Given the description of an element on the screen output the (x, y) to click on. 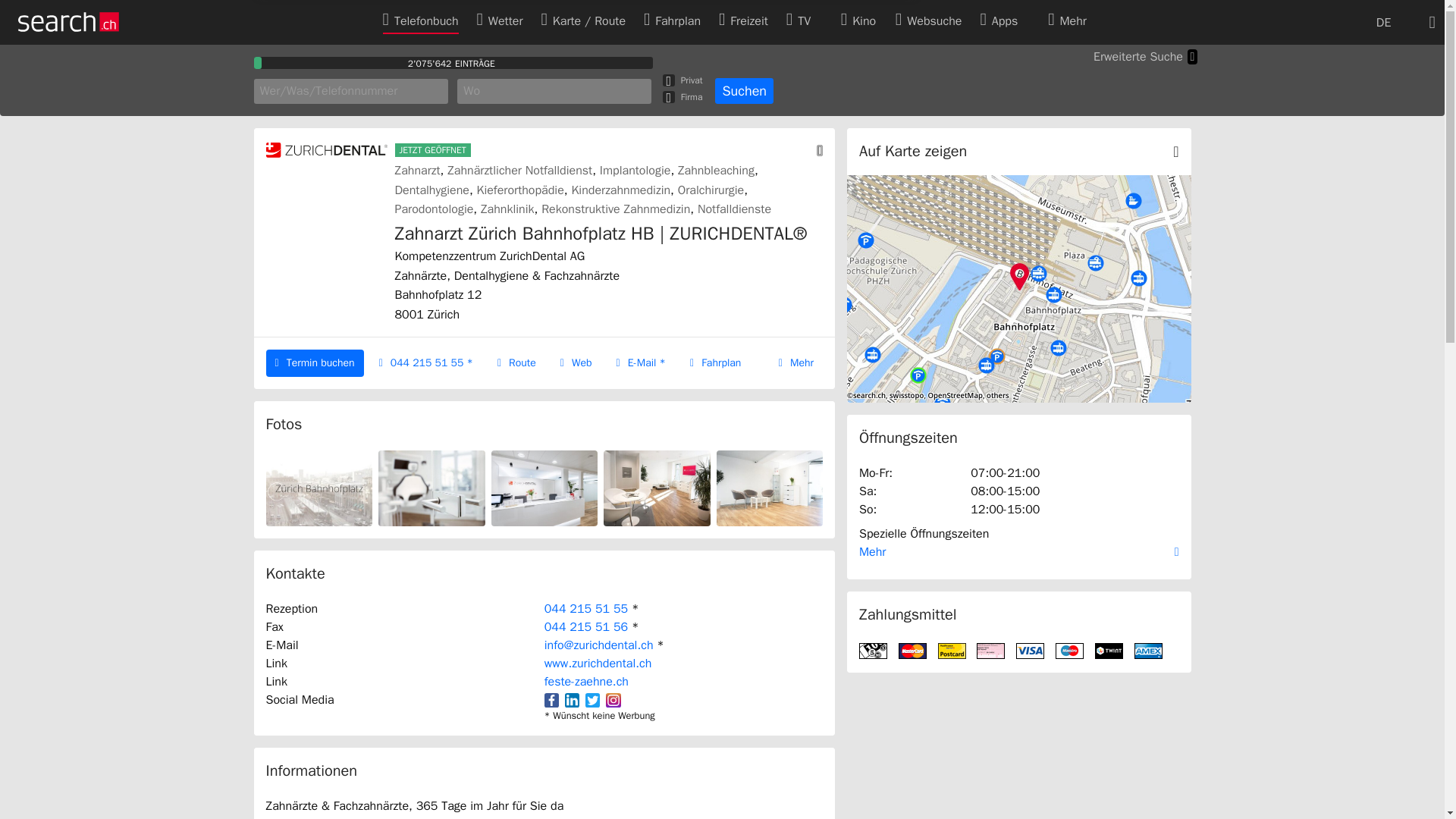
Zahnbleaching (716, 170)
1 (668, 96)
Telefonbuch (420, 19)
Erweiterte Suche (1144, 56)
Suche im Schweizer Web (928, 21)
Offizielles Telefonbuch der Schweiz (420, 21)
TV-Programm (804, 21)
Wo (553, 91)
Dentalhygiene (431, 190)
Websuche (928, 19)
